Given the description of an element on the screen output the (x, y) to click on. 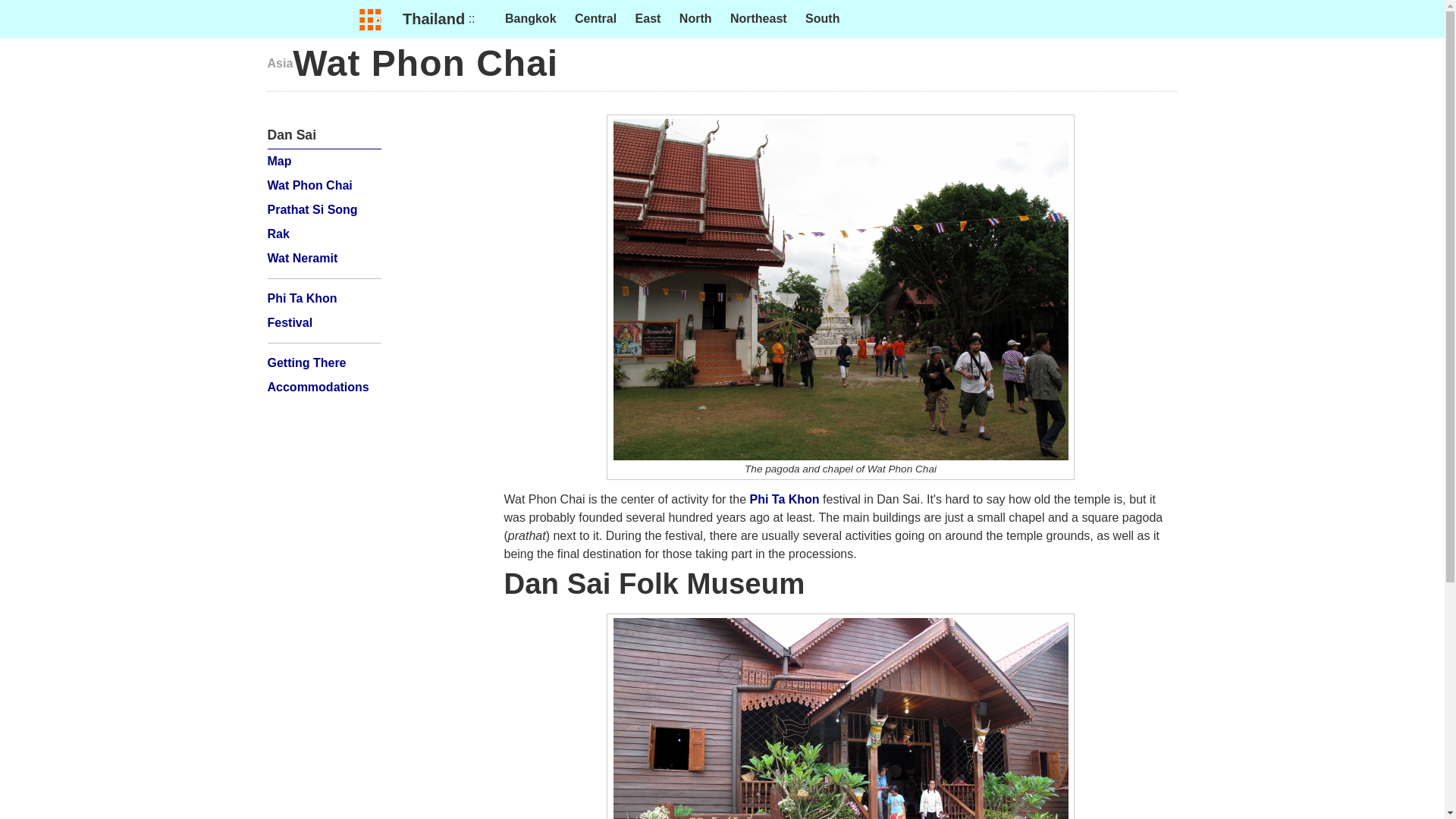
Phi Ta Khon Festival (301, 310)
East (647, 18)
Phi Ta Khon (783, 499)
South (822, 18)
Central (595, 18)
Wat Phon Chai (309, 185)
Asia (279, 62)
Northeast (758, 18)
Getting There (306, 362)
North (695, 18)
Wat Neramit (301, 257)
Thailand (433, 18)
Prathat Si Song Rak (311, 221)
Bangkok (530, 18)
Map (278, 160)
